Given the description of an element on the screen output the (x, y) to click on. 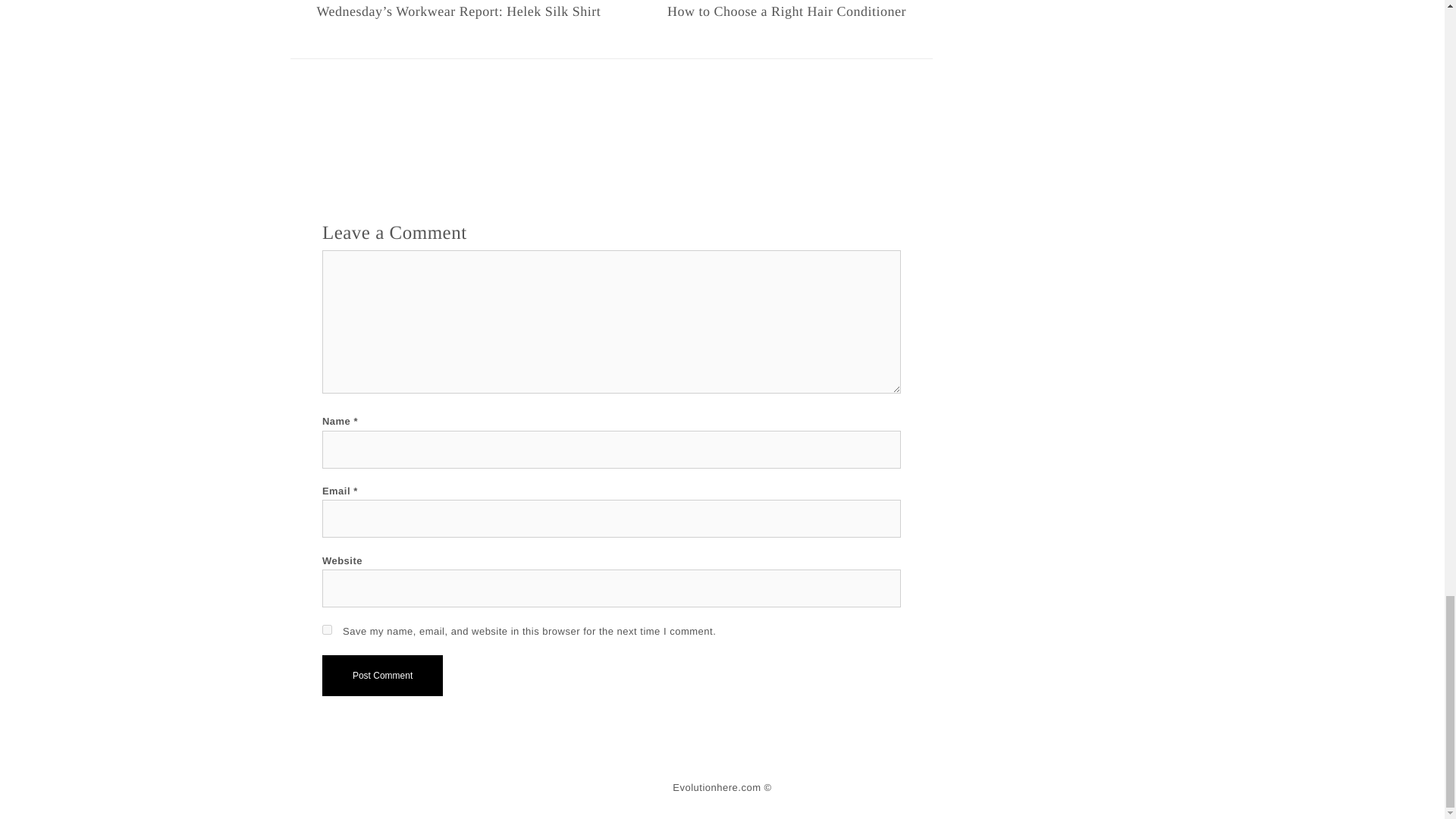
Post Comment (381, 675)
yes (326, 629)
Post Comment (381, 675)
